Given the description of an element on the screen output the (x, y) to click on. 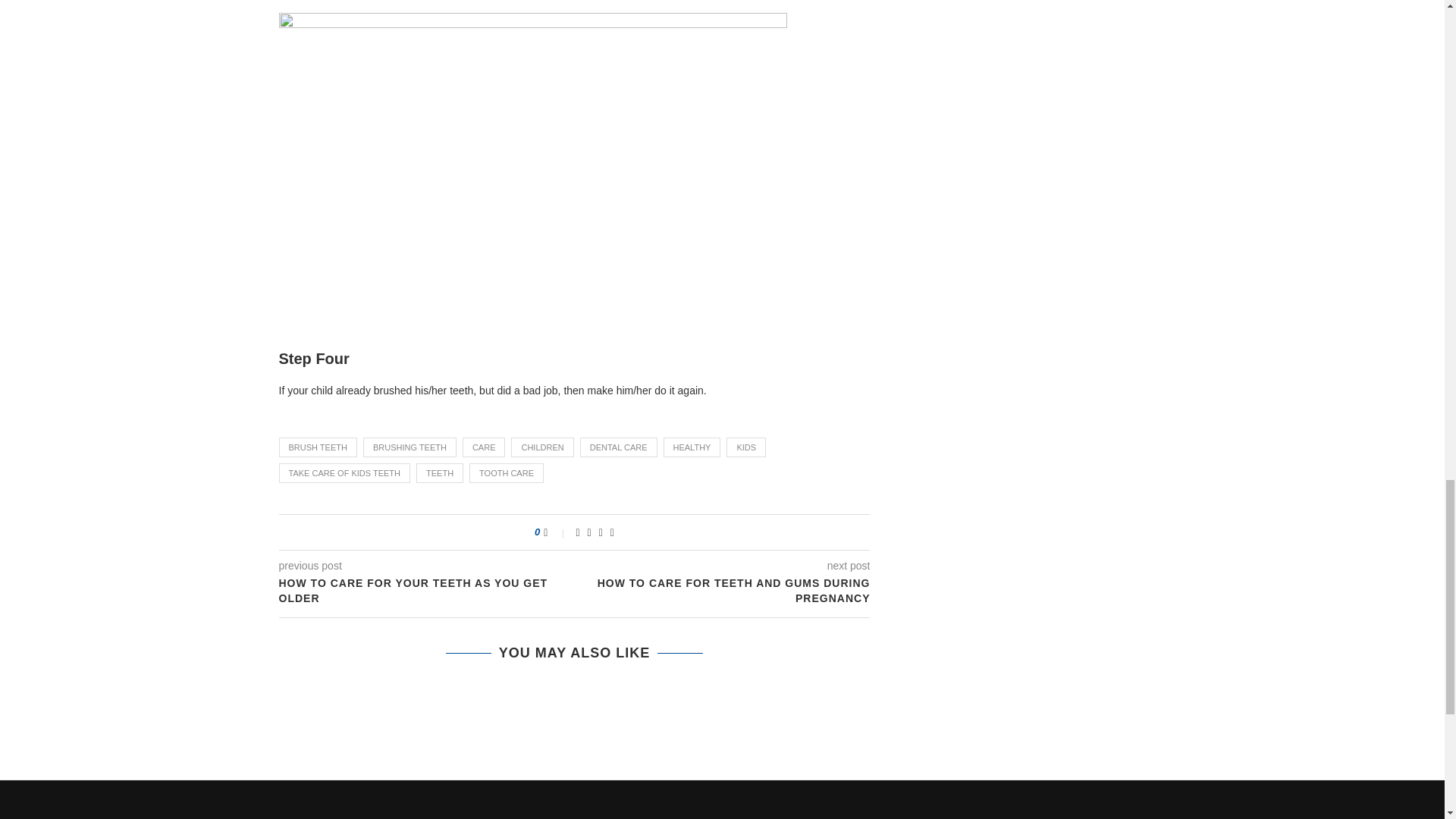
Like (555, 532)
